Given the description of an element on the screen output the (x, y) to click on. 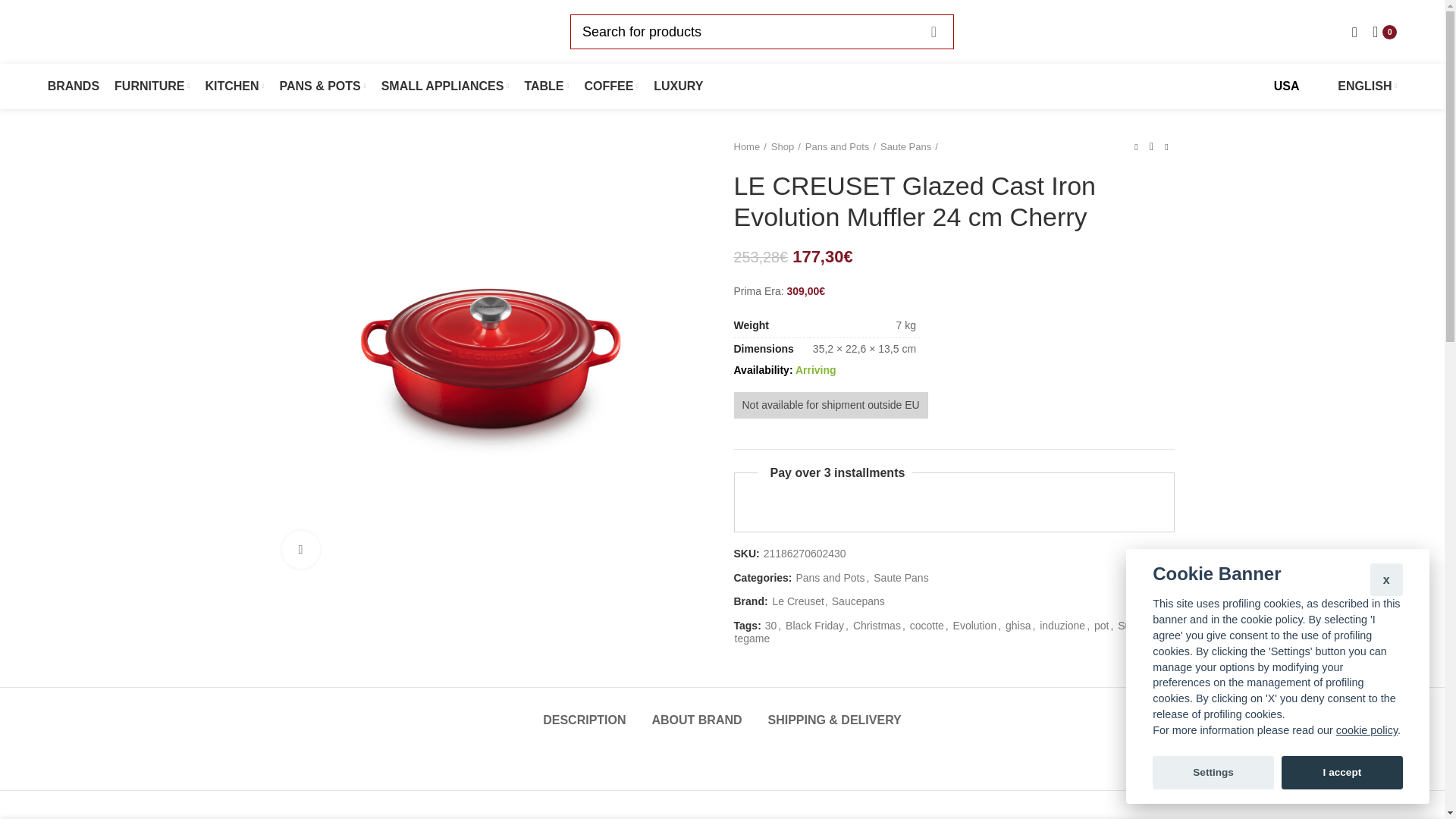
KITCHEN (233, 86)
FURNITURE (151, 86)
BRANDS (73, 86)
Shopping cart (1385, 31)
English (1358, 86)
0 (1385, 31)
SEARCH (933, 31)
